Given the description of an element on the screen output the (x, y) to click on. 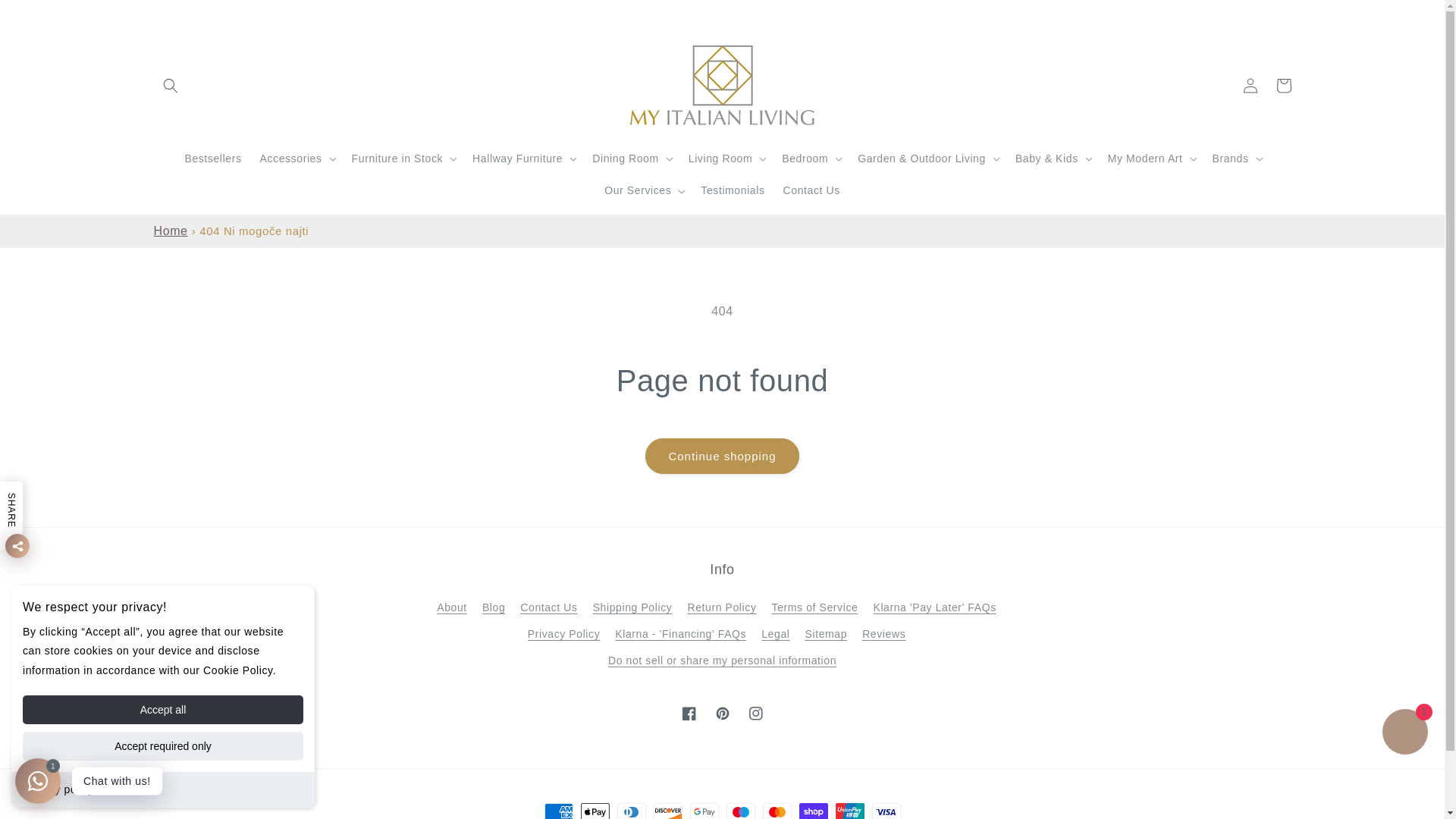
Skip to content (45, 17)
Privacy policy (58, 788)
Home (169, 230)
Accept required only (162, 746)
Klepet v spletni trgovini Shopify (1404, 733)
Accept all (162, 709)
